Given the description of an element on the screen output the (x, y) to click on. 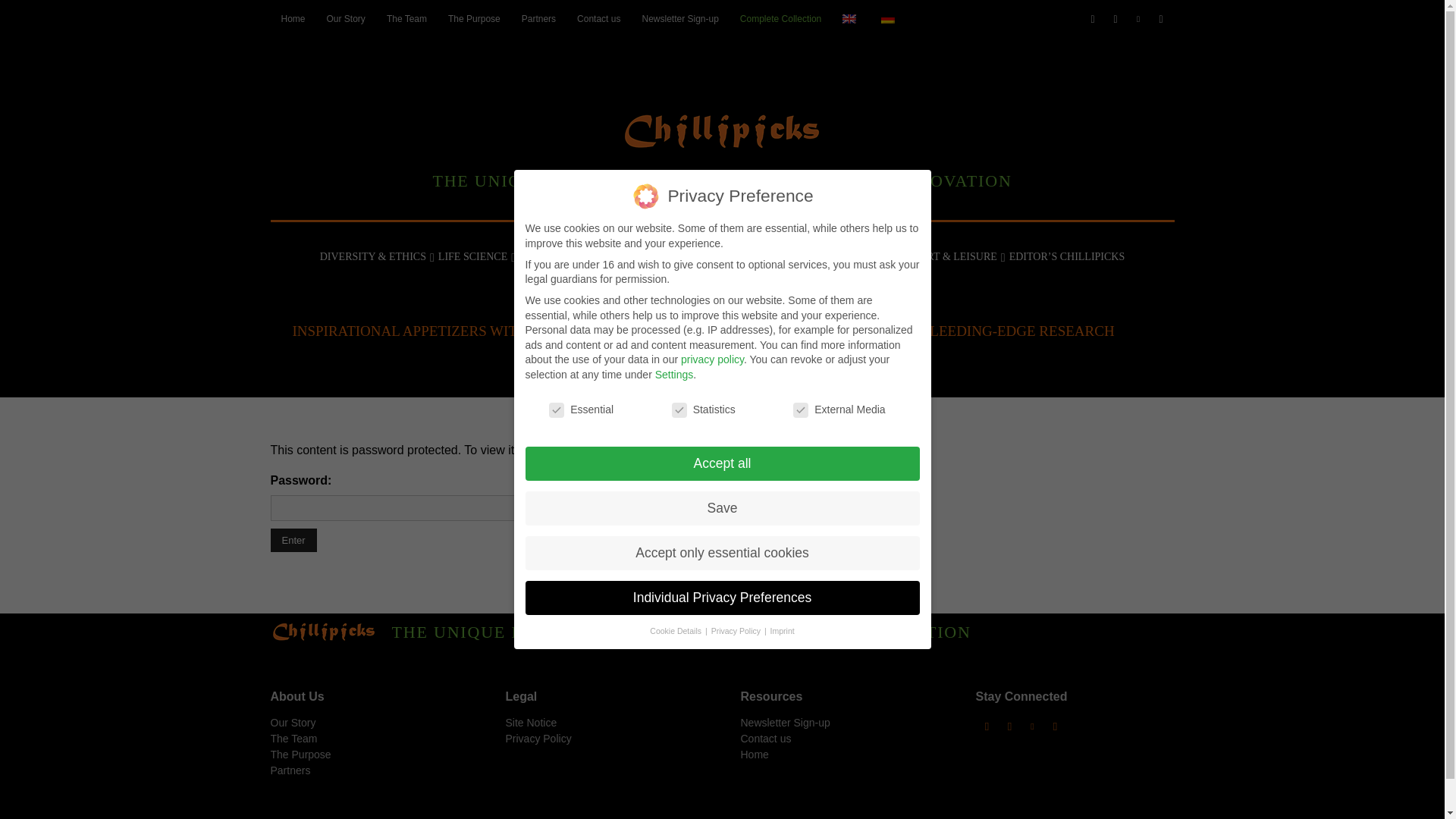
Newsletter Sign-up (679, 18)
Partners (538, 18)
THE UNIQUE KNOWLEDGE BASE ON IMPACTFUL INNOVATION (721, 143)
Facebook (1093, 18)
Contact us (598, 18)
Our Story (345, 18)
The Team (406, 18)
Enter (292, 540)
Complete Collection (780, 18)
The Purpose (474, 18)
Linkedin (1138, 18)
Instagram (1115, 18)
Twitter (1161, 18)
Home (292, 18)
